Given the description of an element on the screen output the (x, y) to click on. 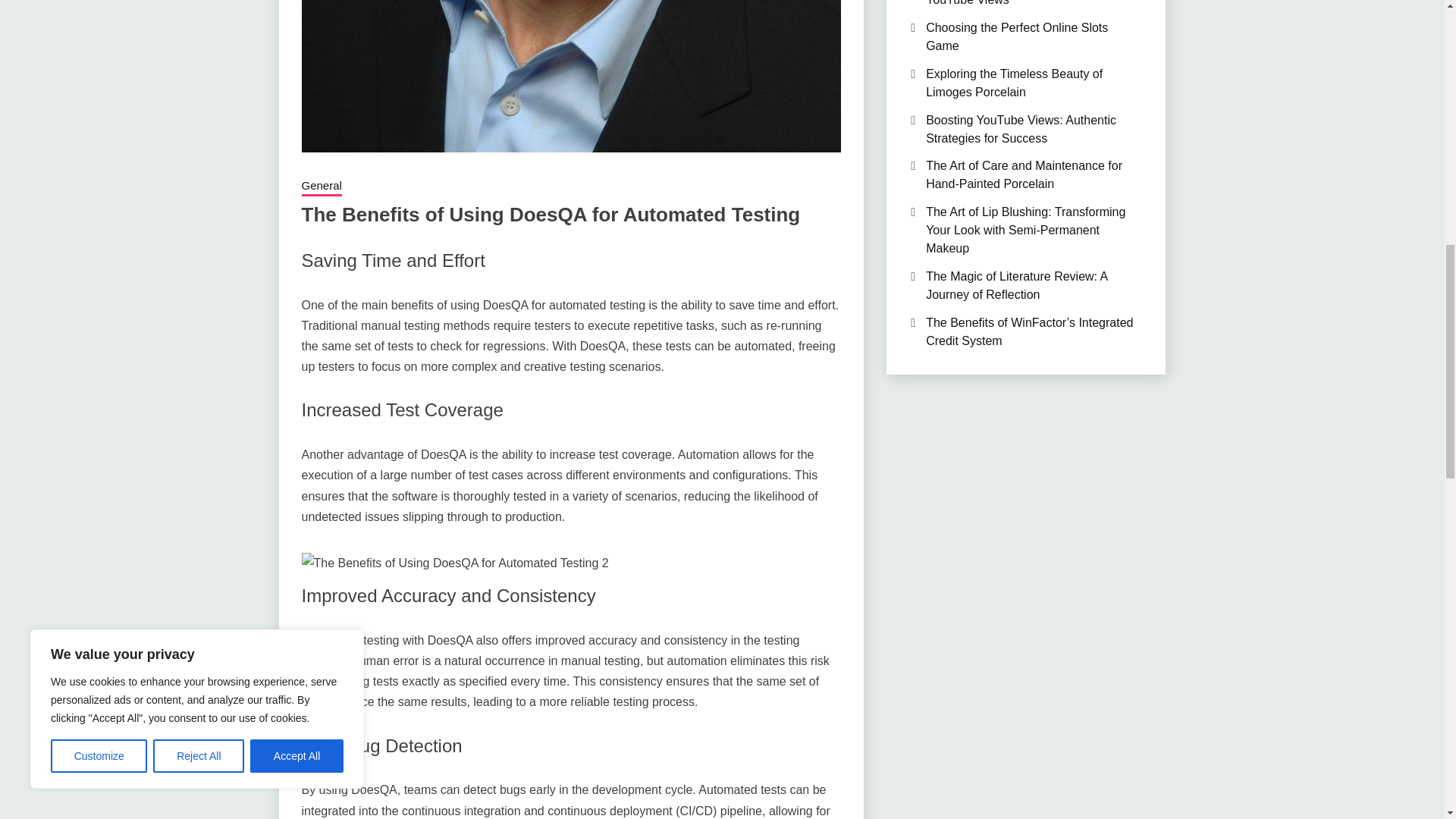
General (321, 187)
